Given the description of an element on the screen output the (x, y) to click on. 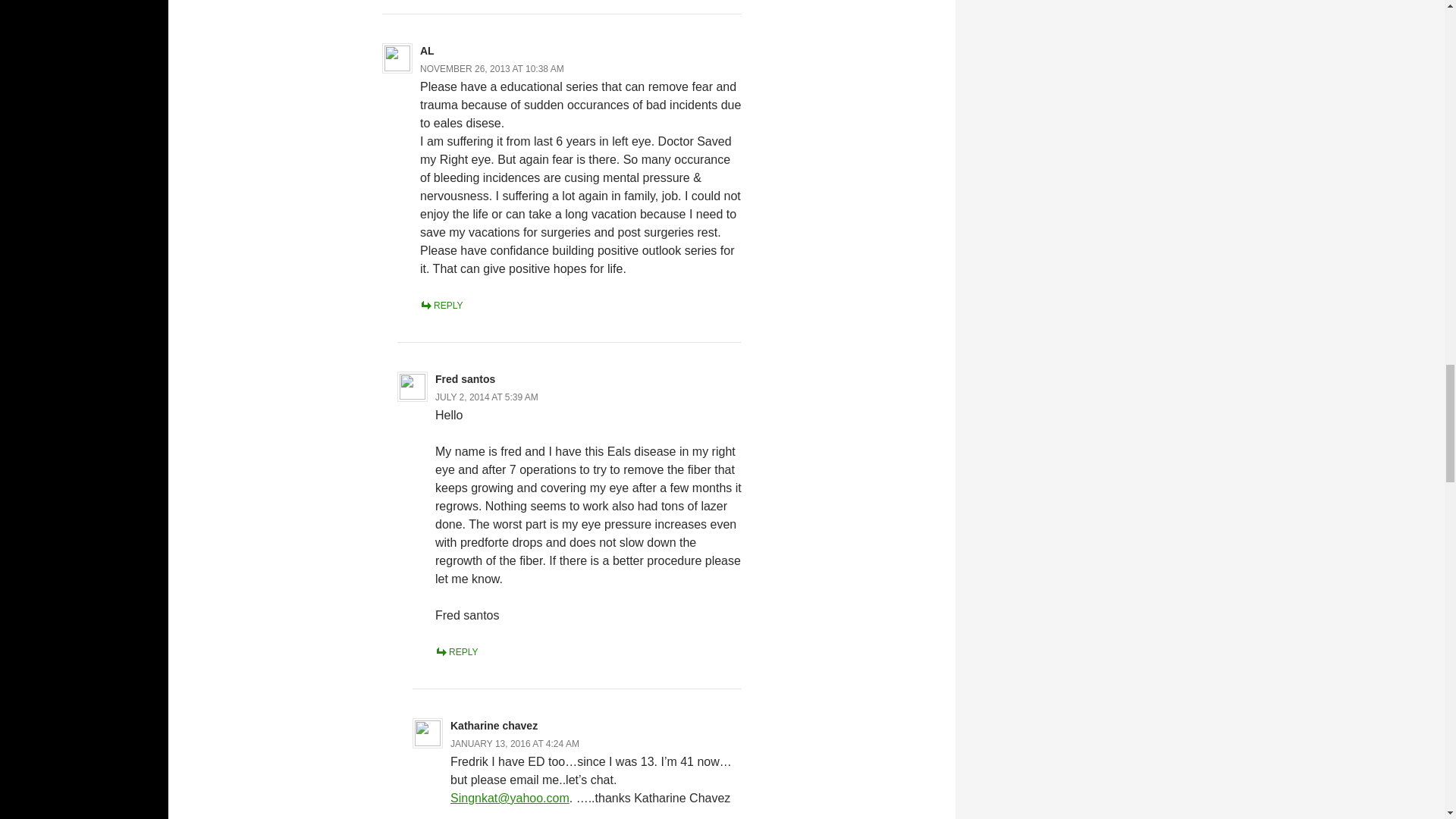
JANUARY 13, 2016 AT 4:24 AM (514, 743)
REPLY (456, 652)
JULY 2, 2014 AT 5:39 AM (486, 397)
REPLY (441, 305)
NOVEMBER 26, 2013 AT 10:38 AM (492, 68)
